Given the description of an element on the screen output the (x, y) to click on. 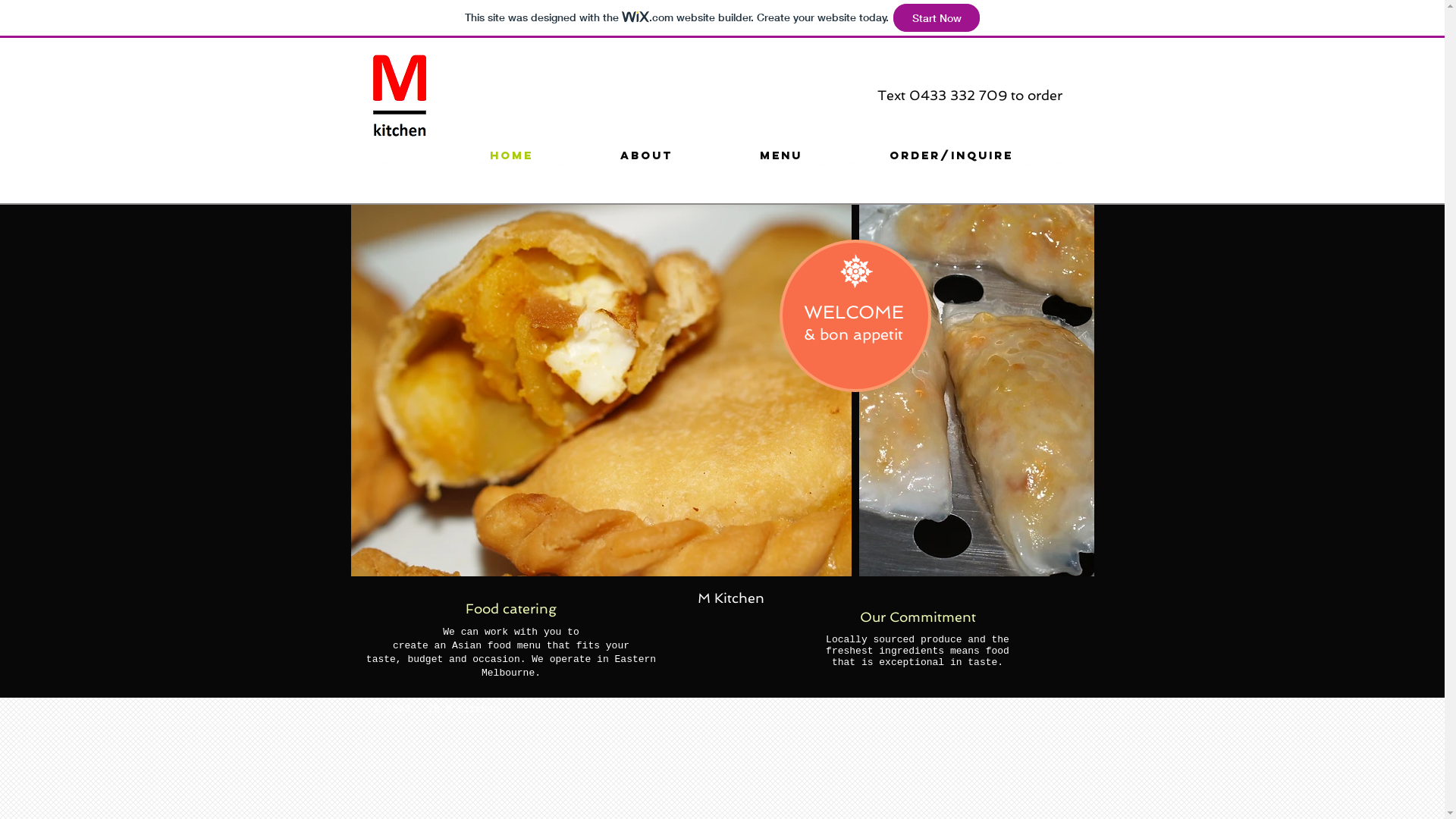
HOME Element type: text (510, 155)
ABOUT Element type: text (645, 155)
ORDER/INQUIRE Element type: text (951, 155)
MENU Element type: text (780, 155)
